Given the description of an element on the screen output the (x, y) to click on. 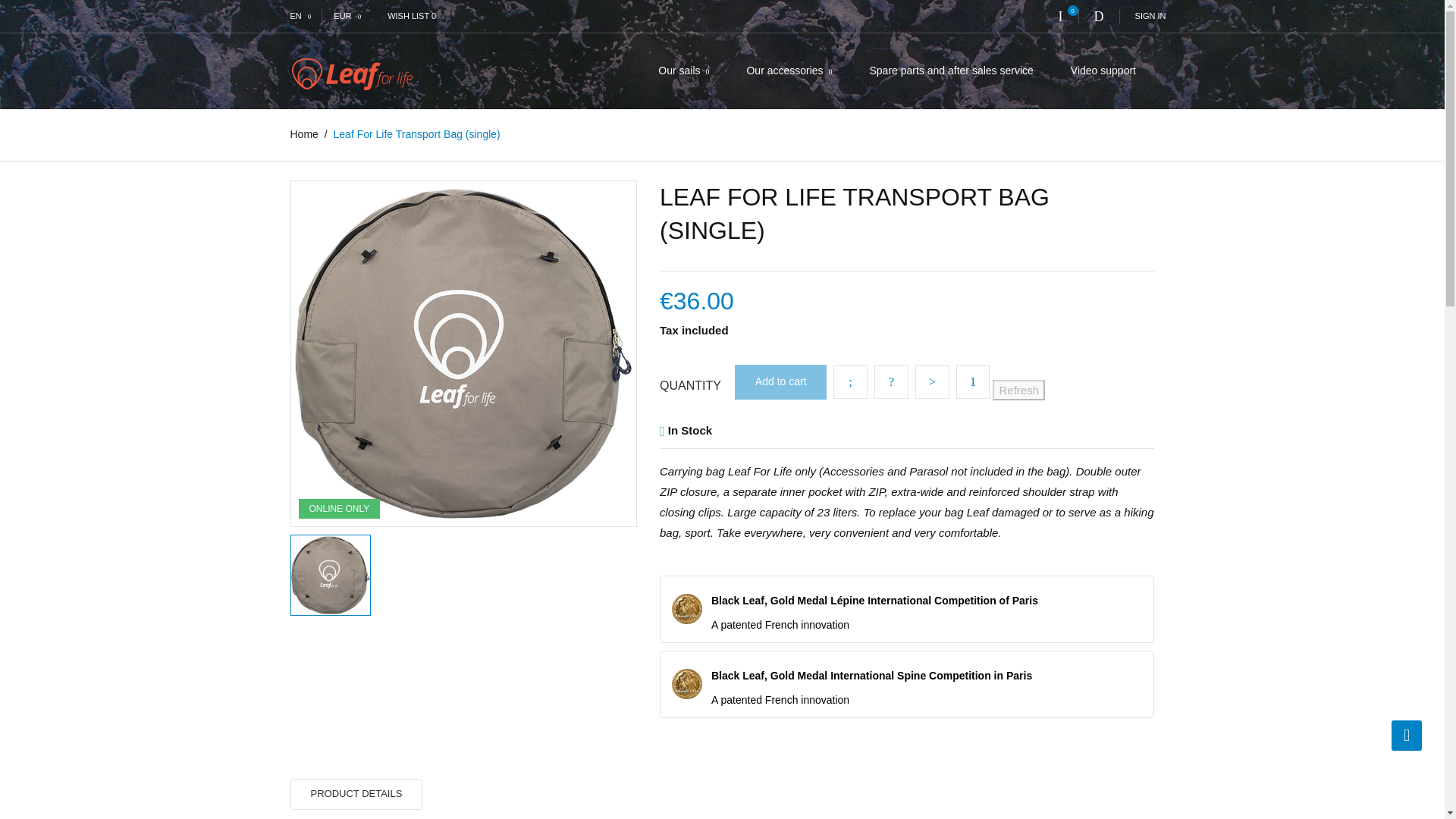
SIGN IN (1142, 16)
Share (849, 381)
Spare parts and after sales service (950, 71)
Our accessories (789, 71)
Video support (1102, 71)
Our sails (684, 71)
Add to cart (781, 381)
Home (304, 133)
WISH LIST 0 (409, 16)
Log in to your customer account (1142, 16)
Refresh (1018, 390)
Wish list (409, 16)
Pinterest (932, 381)
Add to my wishlist (973, 381)
Tweet (891, 381)
